Given the description of an element on the screen output the (x, y) to click on. 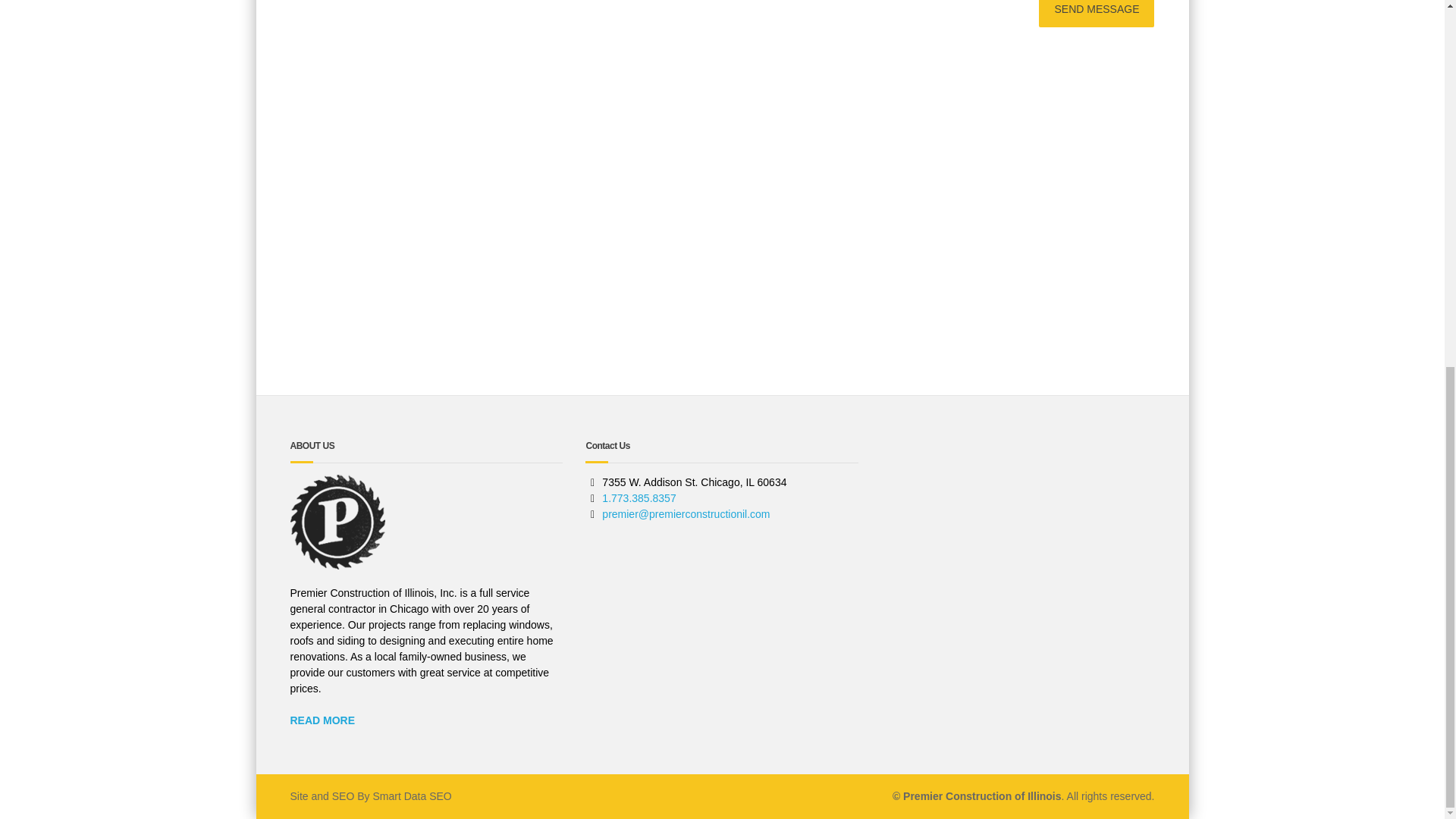
READ MORE (322, 720)
1.773.385.8357 (638, 498)
SEND MESSAGE (1096, 13)
SEND MESSAGE (1096, 13)
